Given the description of an element on the screen output the (x, y) to click on. 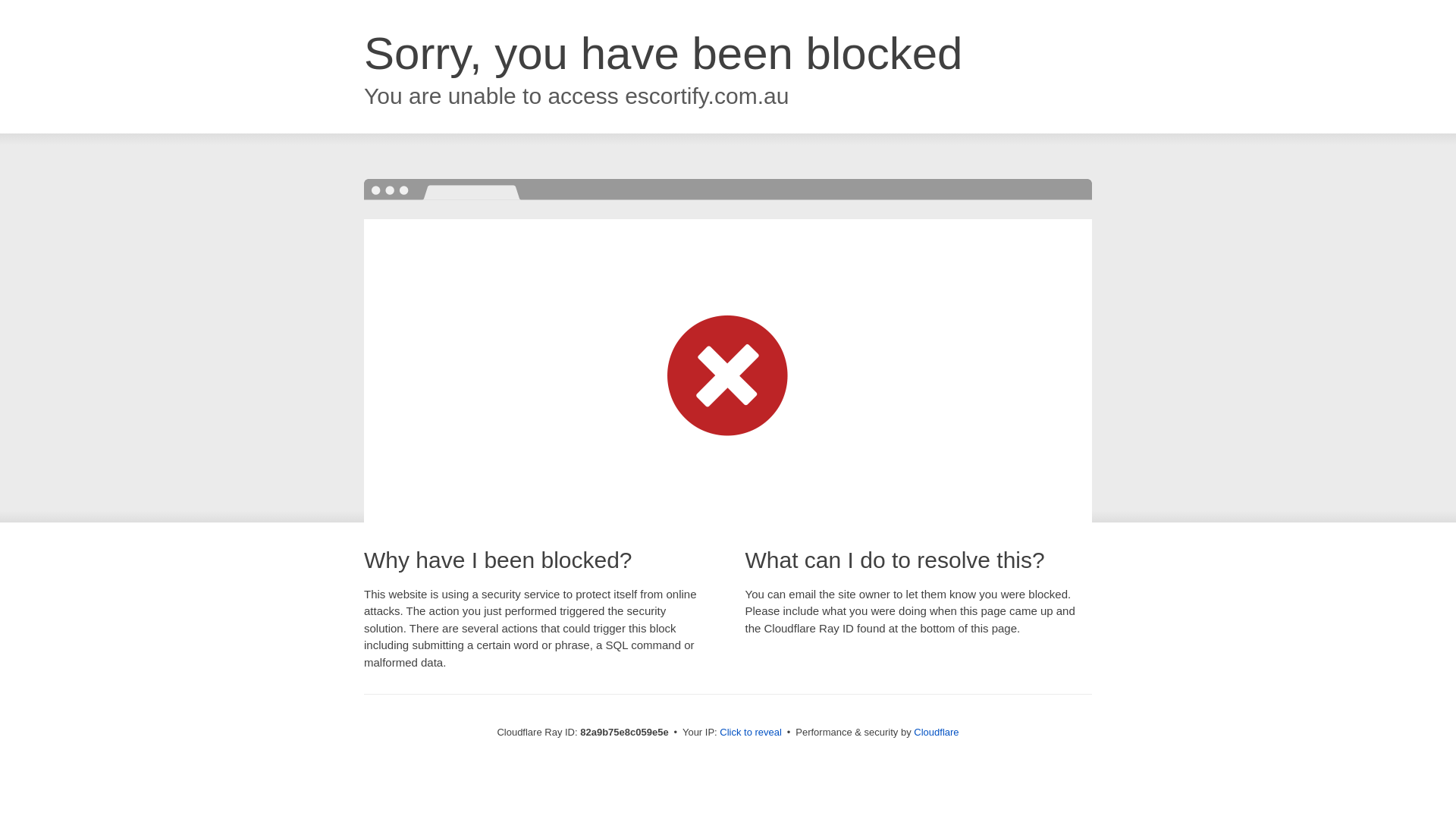
Click to reveal Element type: text (750, 732)
Cloudflare Element type: text (935, 731)
